Given the description of an element on the screen output the (x, y) to click on. 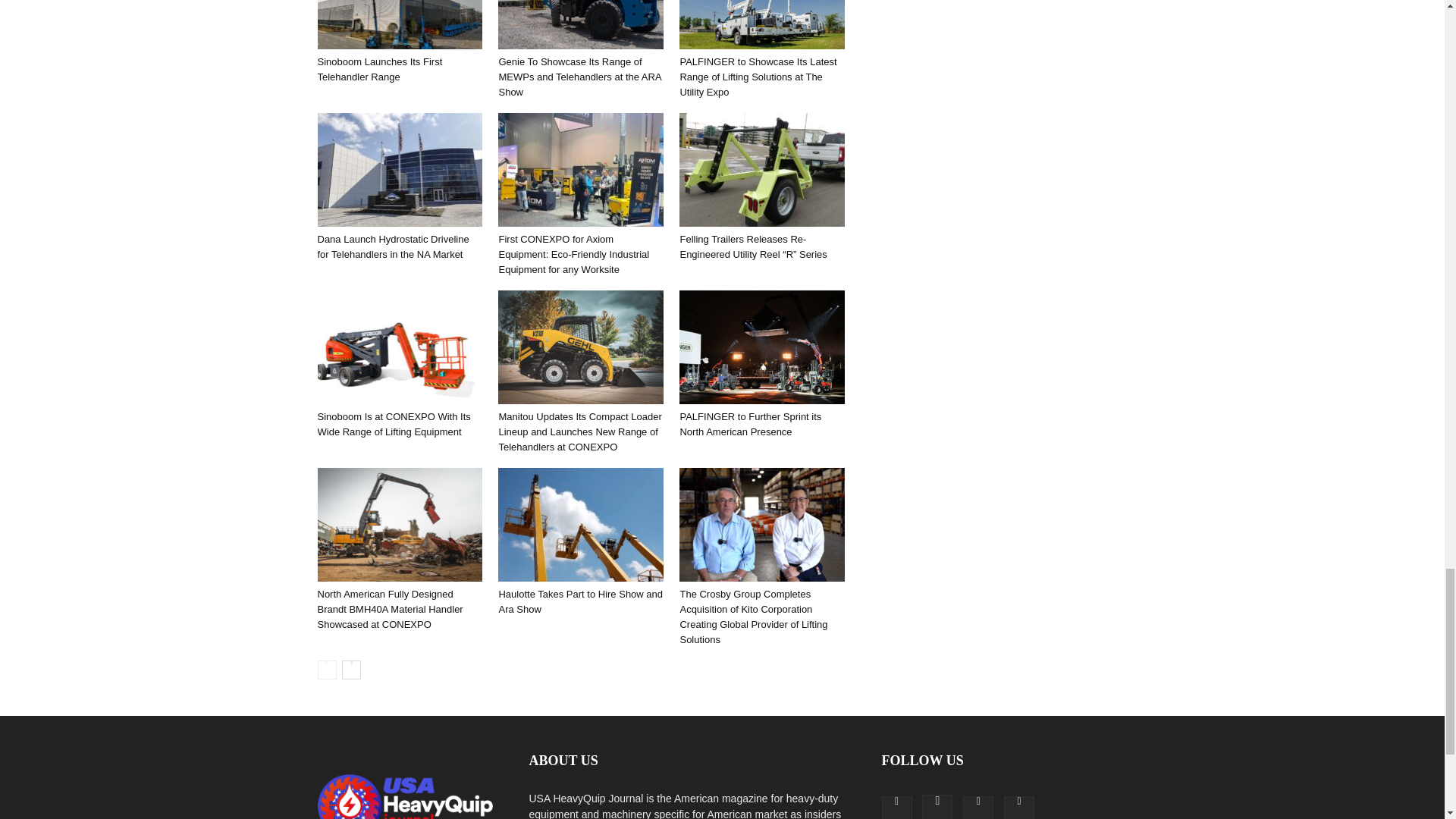
Sinoboom Launches Its First Telehandler Range (379, 69)
Sinoboom Launches Its First Telehandler Range (399, 24)
